Given the description of an element on the screen output the (x, y) to click on. 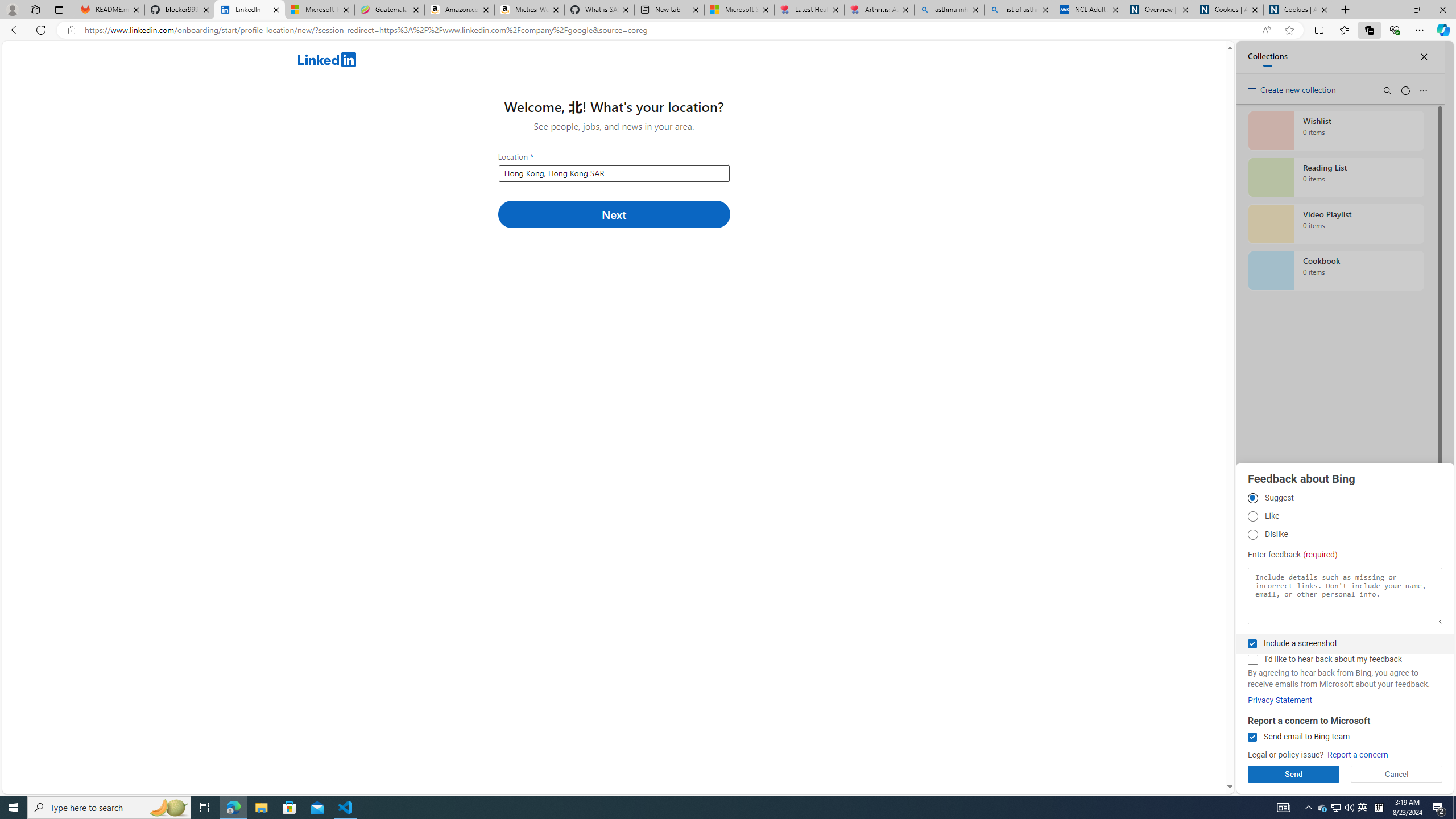
Report a concern (1358, 755)
